Given the description of an element on the screen output the (x, y) to click on. 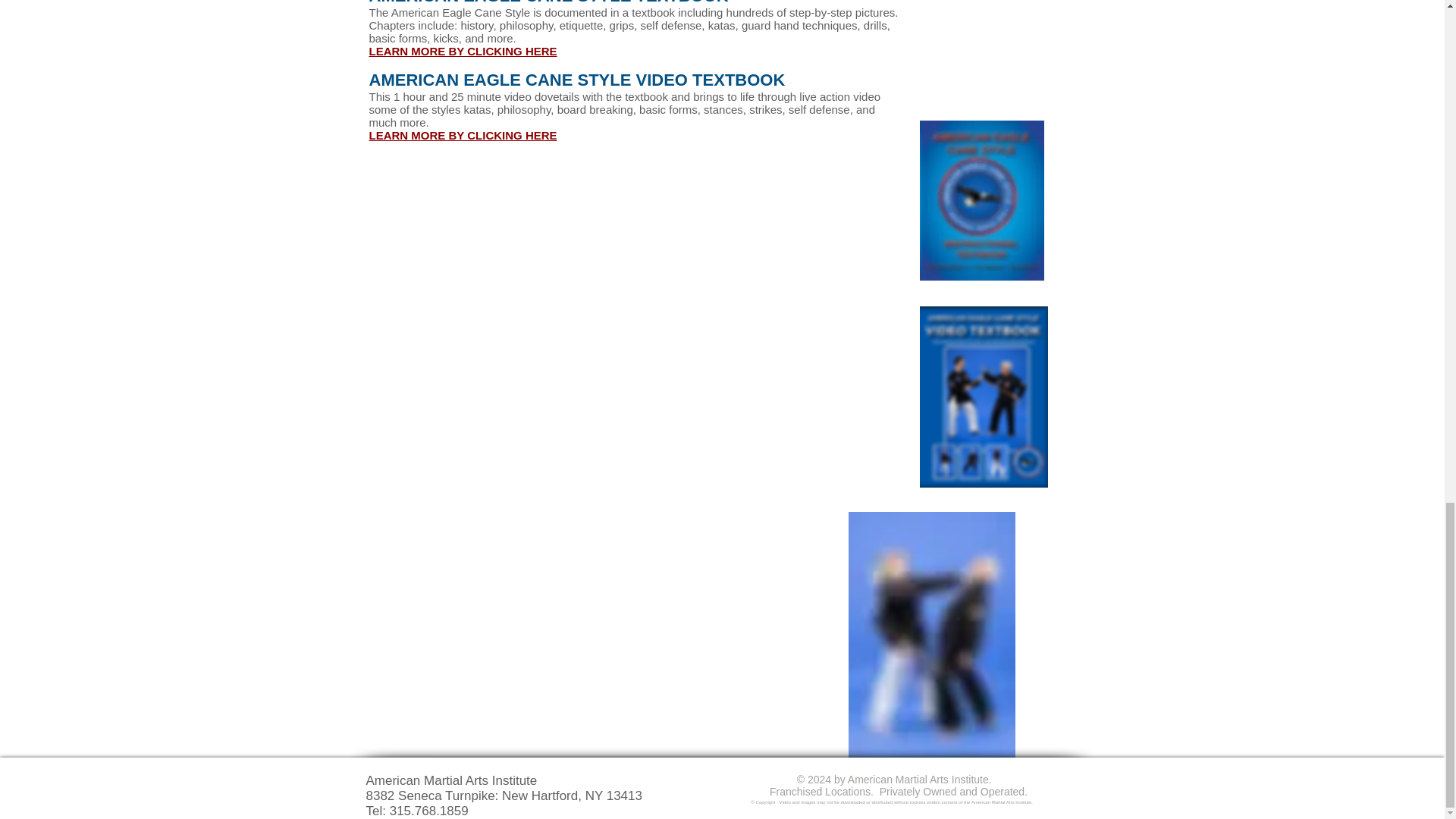
Front Cover - AECS DVD 2023.png (982, 396)
